Given the description of an element on the screen output the (x, y) to click on. 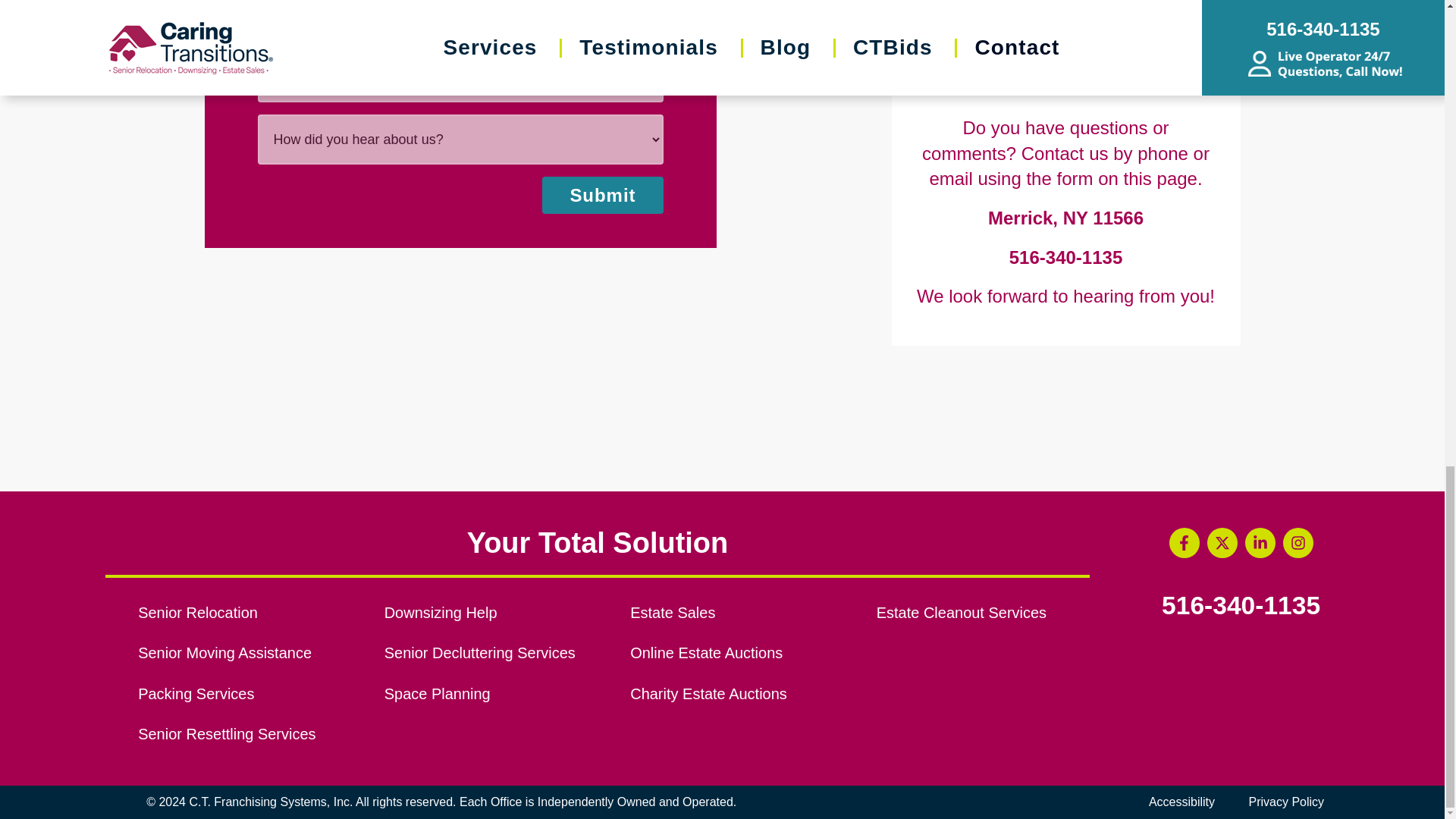
Space Planning (490, 694)
LinkedIn (1259, 542)
Instagram (1297, 542)
Facebook (1184, 542)
516-340-1135 (1065, 257)
Online Estate Auctions (736, 653)
Senior Resettling Services (244, 734)
Downsizing Help (490, 613)
Estate Cleanout Services (982, 613)
Estate Sales (736, 613)
Privacy Policy (1286, 801)
Packing Services (244, 694)
516-340-1135 (1240, 605)
Twitter (1222, 542)
Senior Decluttering Services (490, 653)
